Given the description of an element on the screen output the (x, y) to click on. 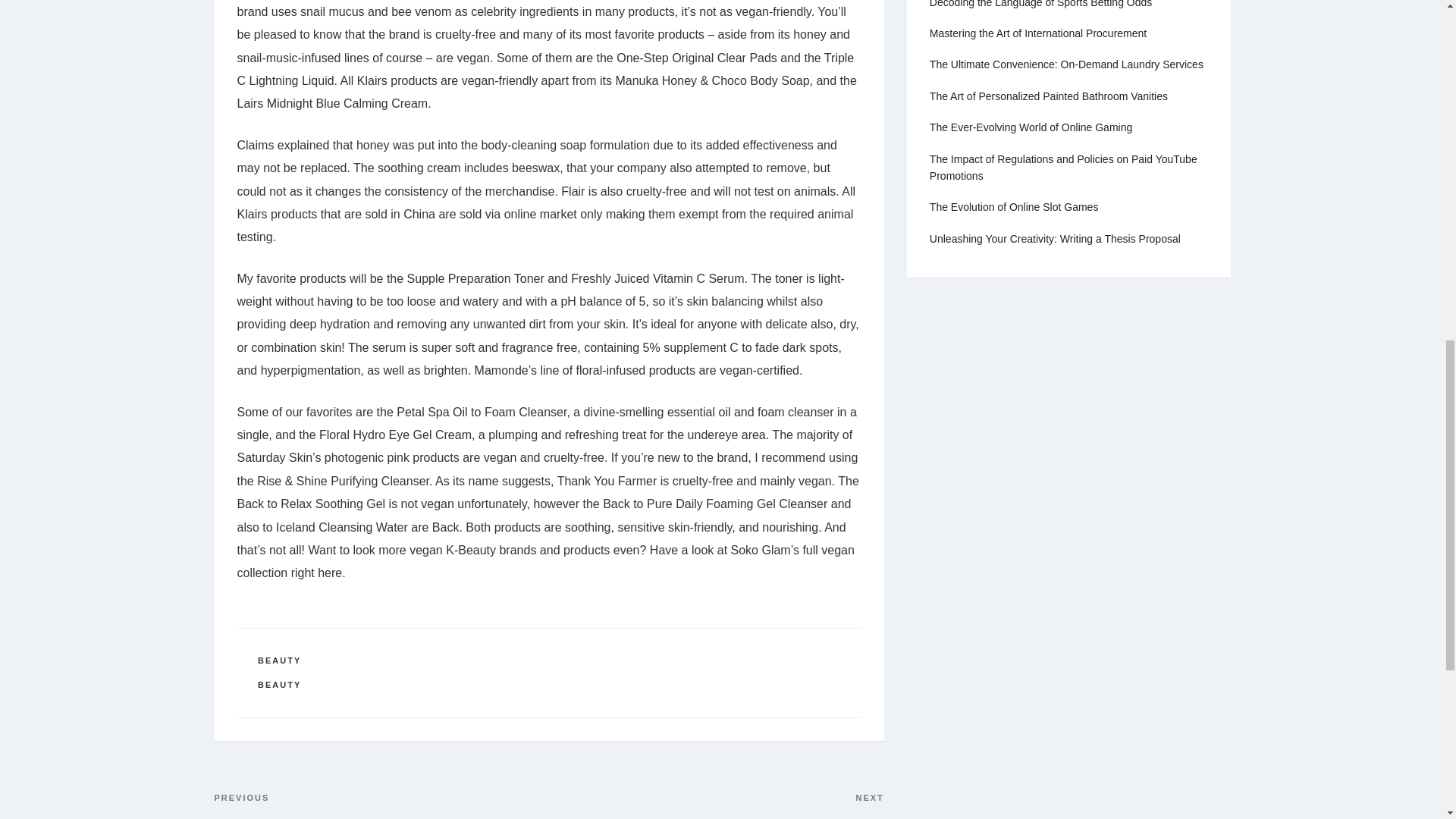
The Ultimate Convenience: On-Demand Laundry Services (1067, 64)
Decoding the Language of Sports Betting Odds (1040, 4)
The Evolution of Online Slot Games (1014, 206)
The Ever-Evolving World of Online Gaming (1031, 127)
Mastering the Art of International Procurement (715, 804)
BEAUTY (1038, 33)
The Art of Personalized Painted Bathroom Vanities (279, 660)
